Given the description of an element on the screen output the (x, y) to click on. 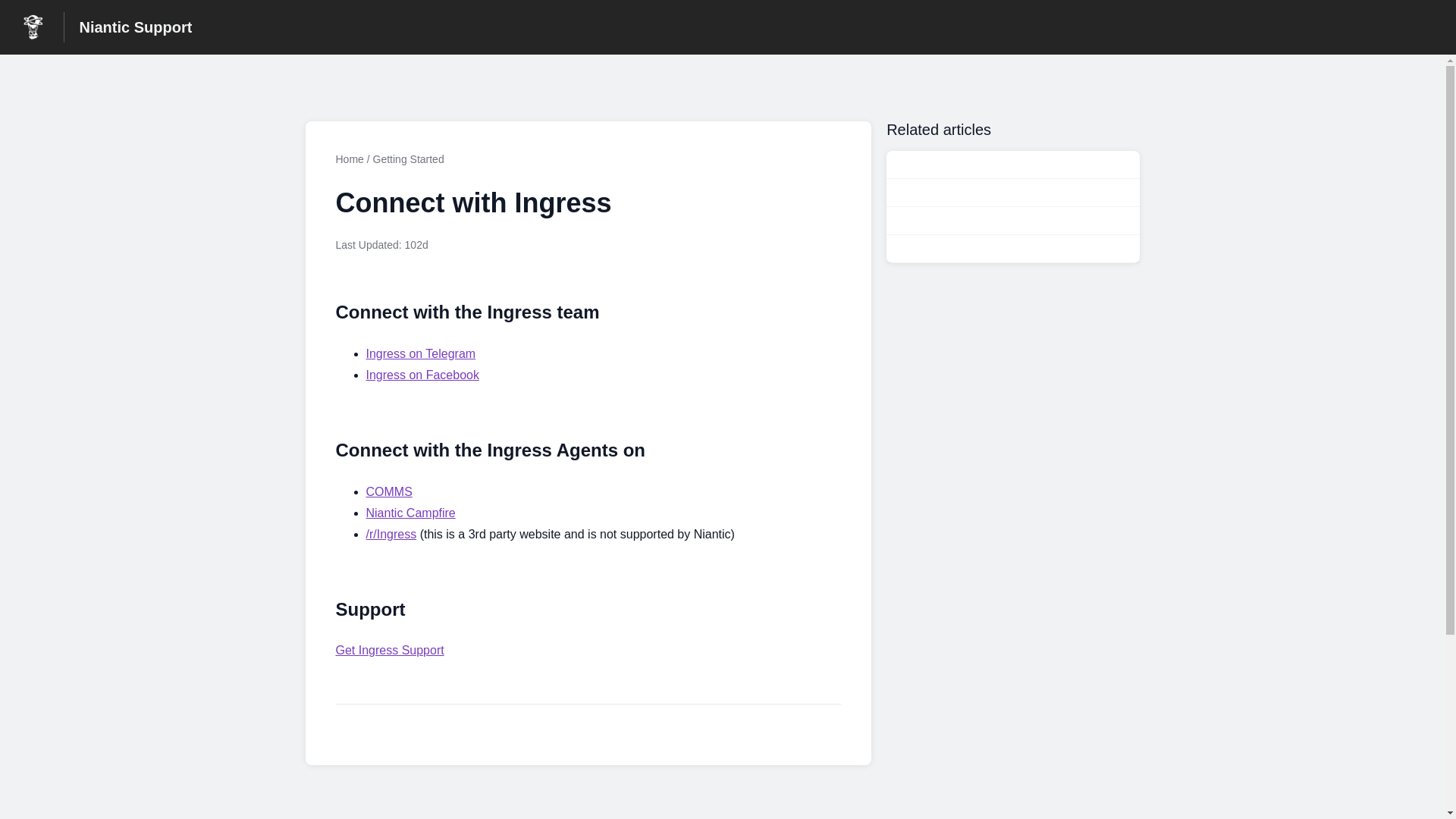
Niantic Campfire (409, 513)
COMMS (388, 491)
Get Ingress Support (389, 649)
Getting Started (408, 159)
Niantic Support (135, 27)
Ingress on Facebook (422, 374)
Home (348, 159)
Ingress on Telegram (420, 353)
